Given the description of an element on the screen output the (x, y) to click on. 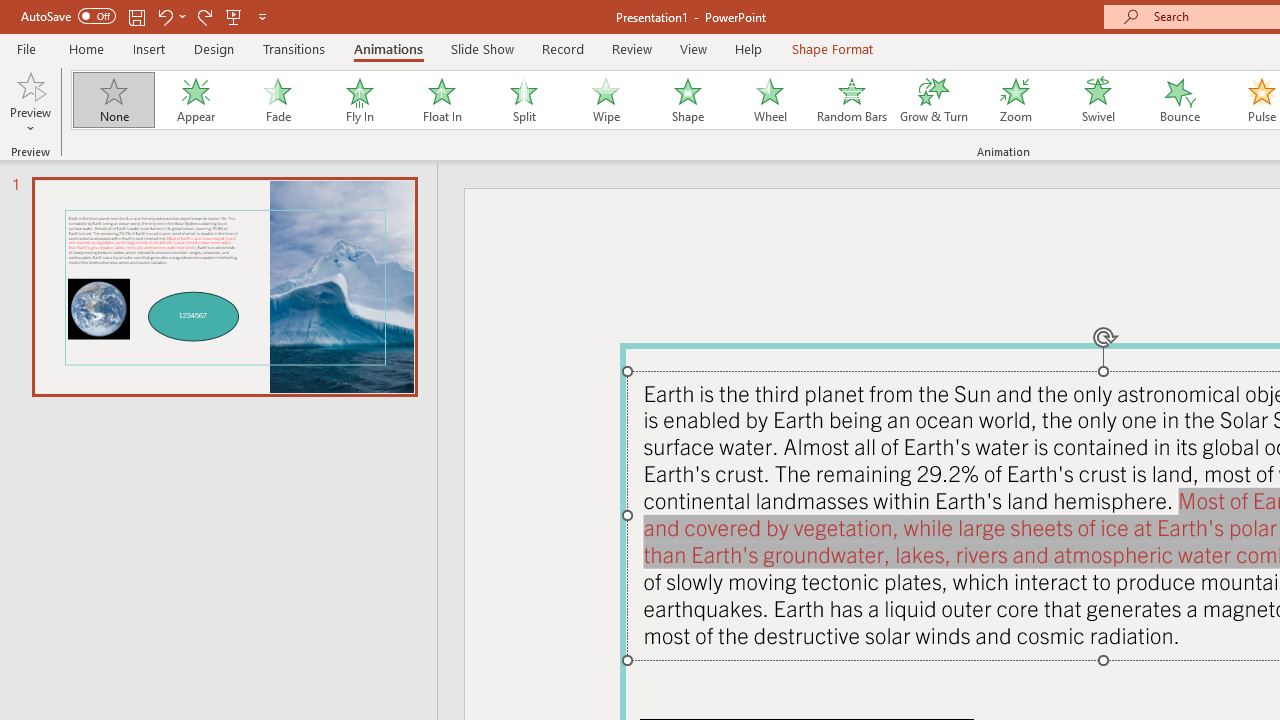
Appear (195, 100)
Swivel (1098, 100)
